Given the description of an element on the screen output the (x, y) to click on. 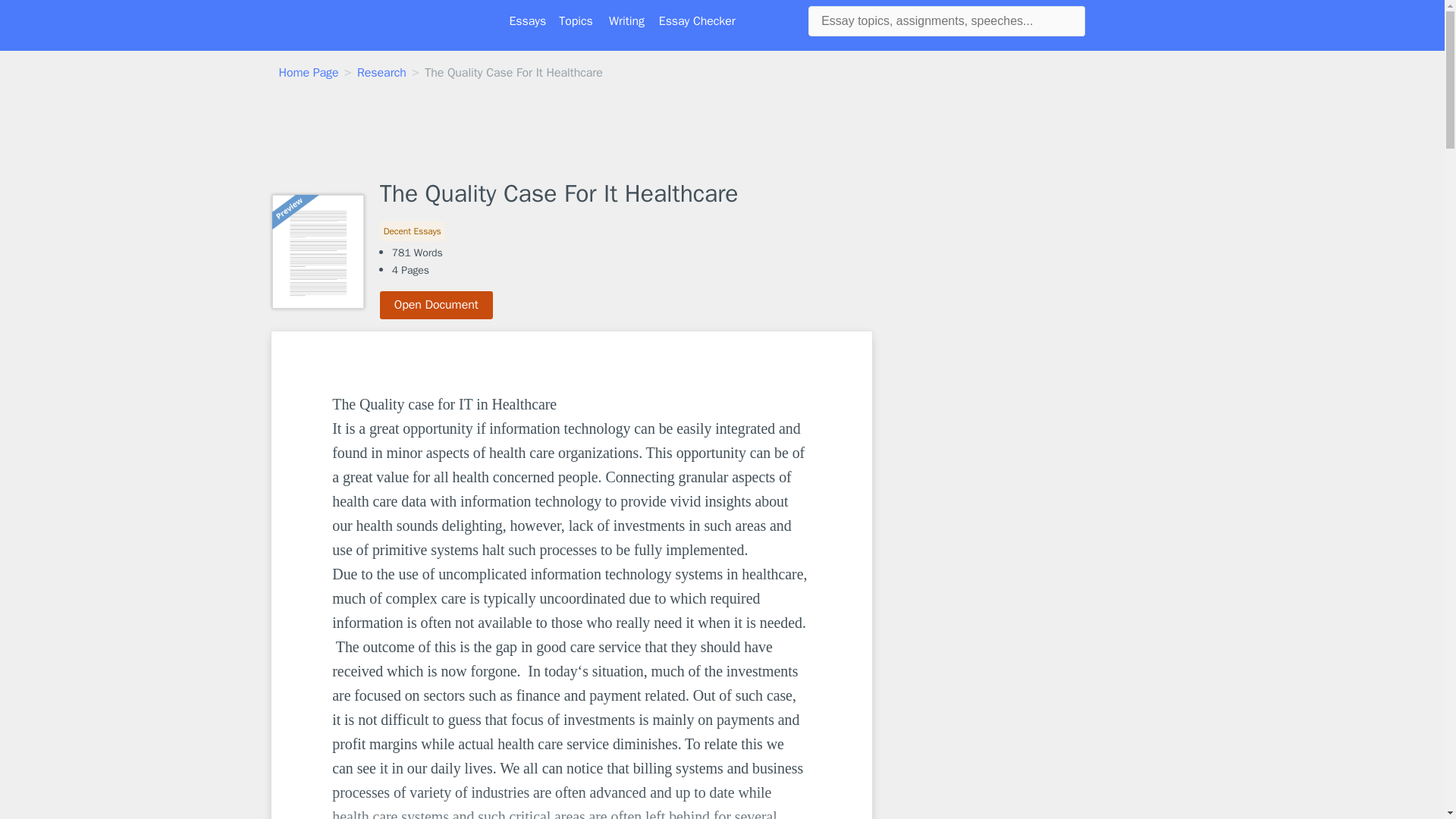
Essay Checker (697, 20)
Open Document (436, 305)
Home Page (309, 72)
Essays (528, 20)
Research (381, 72)
Topics (575, 20)
Writing (626, 20)
